Given the description of an element on the screen output the (x, y) to click on. 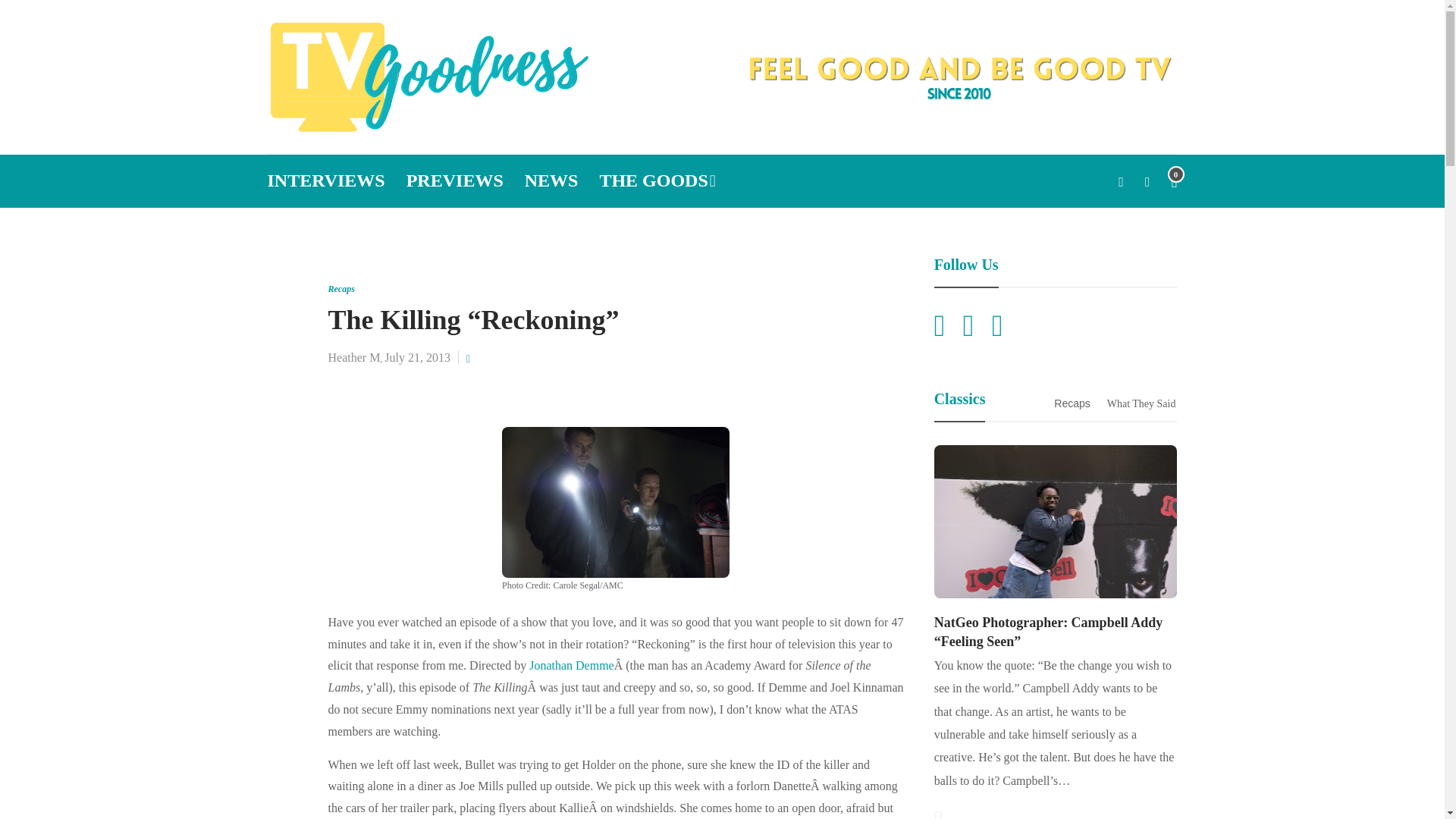
INTERVIEWS (325, 181)
Jonathan Demme (571, 665)
NEWS (551, 181)
Heather M (353, 357)
THE GOODS (656, 181)
July 21, 2013 (416, 357)
Recaps (340, 288)
PREVIEWS (454, 181)
